Given the description of an element on the screen output the (x, y) to click on. 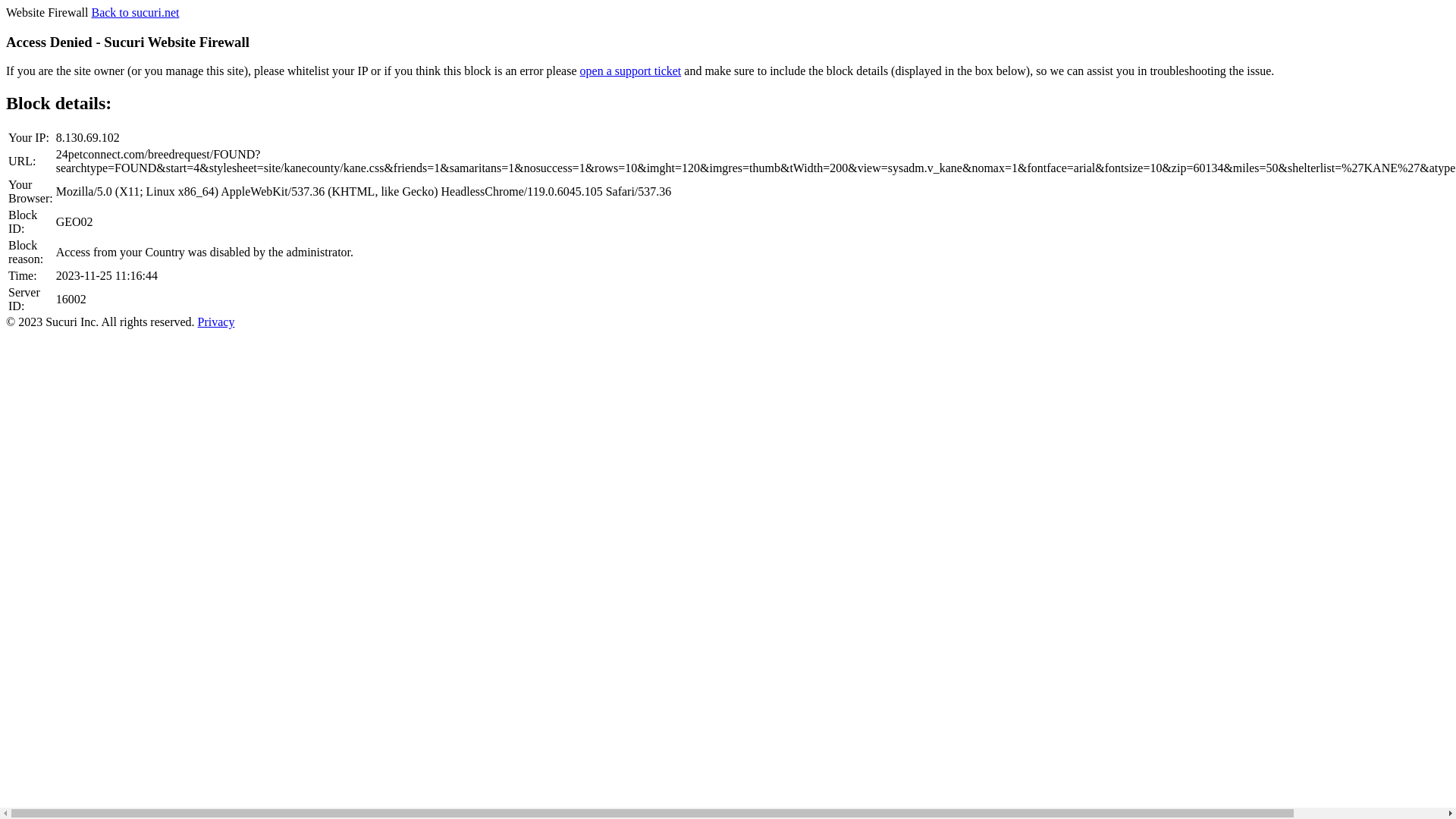
Privacy Element type: text (216, 321)
open a support ticket Element type: text (630, 70)
Back to sucuri.net Element type: text (134, 12)
